Given the description of an element on the screen output the (x, y) to click on. 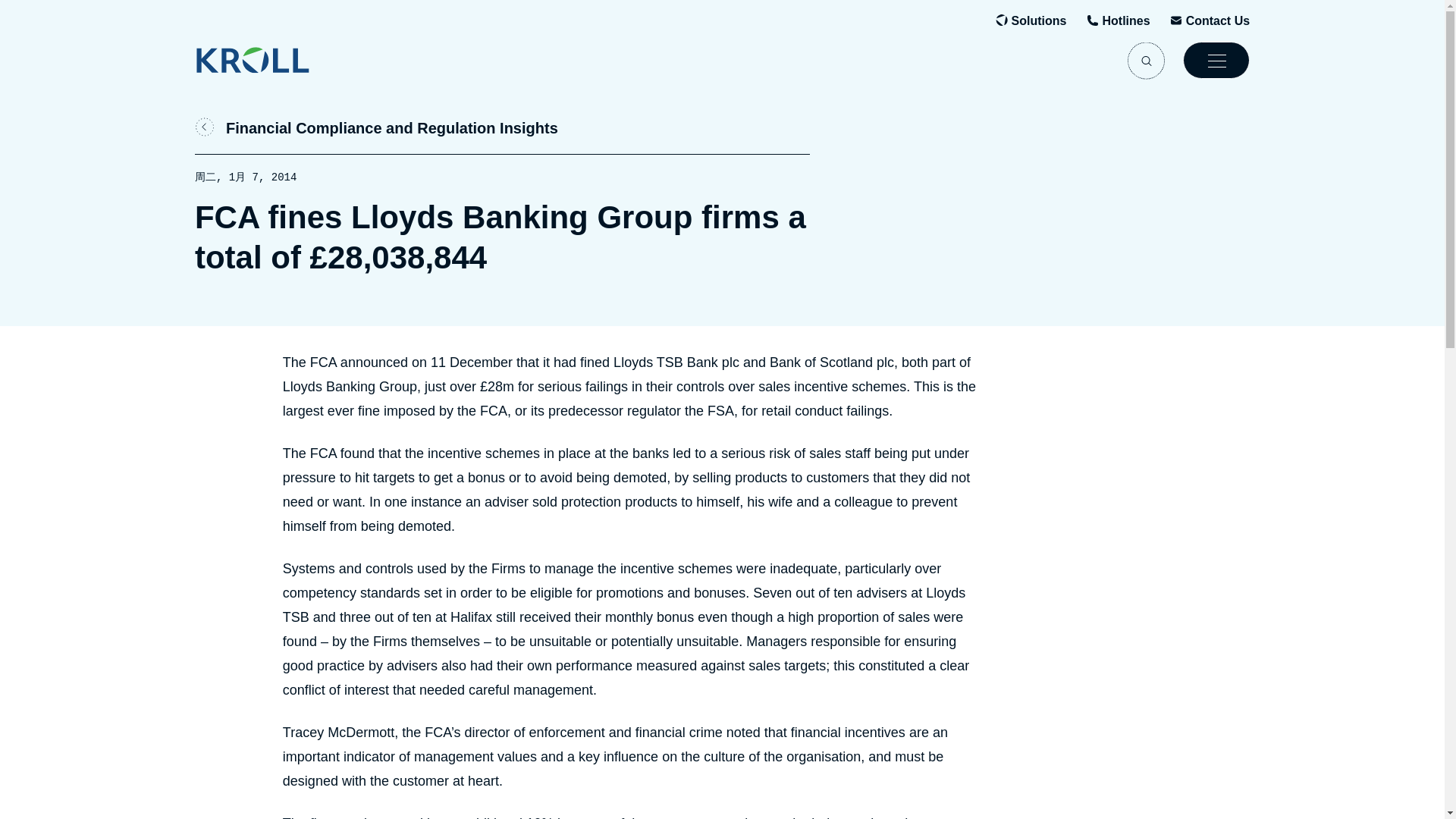
Hotlines (1126, 21)
Phone (1126, 21)
Send Message (1217, 21)
Our Capabilities (1039, 21)
Kroll-Logo (283, 59)
Solutions (1039, 21)
dropdown (1215, 59)
Burger-Icon (1215, 59)
Search-Icon (1145, 59)
search (1145, 59)
